Given the description of an element on the screen output the (x, y) to click on. 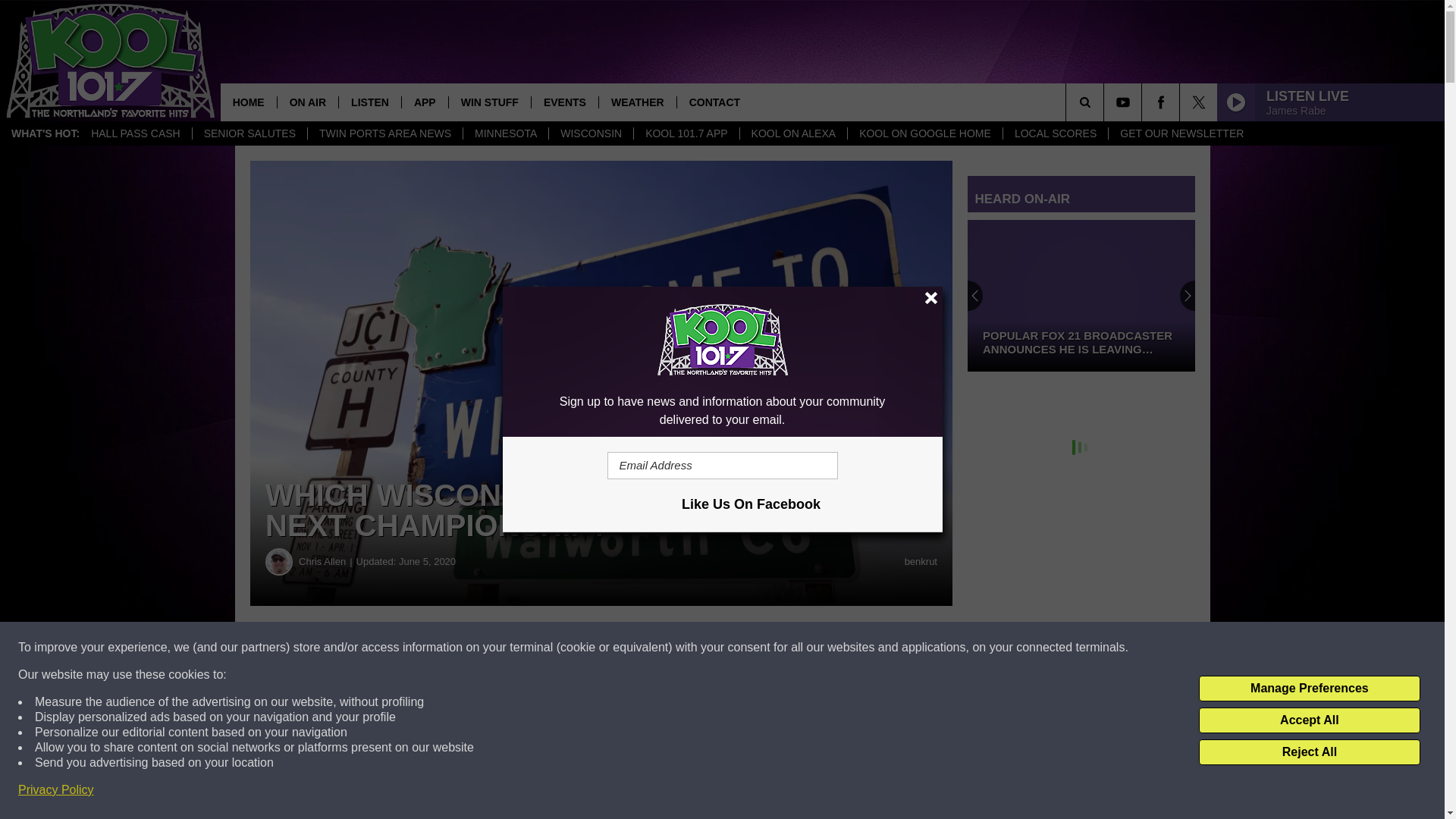
MINNESOTA (505, 133)
APP (424, 102)
SEARCH (1106, 102)
WIN STUFF (489, 102)
Privacy Policy (55, 789)
Share on Twitter (741, 647)
LOCAL SCORES (1055, 133)
KOOL ON ALEXA (793, 133)
KOOL 101.7 APP (685, 133)
Email Address (722, 465)
Reject All (1309, 751)
Share on Facebook (460, 647)
HALL PASS CASH (136, 133)
HOME (248, 102)
WISCONSIN (590, 133)
